Given the description of an element on the screen output the (x, y) to click on. 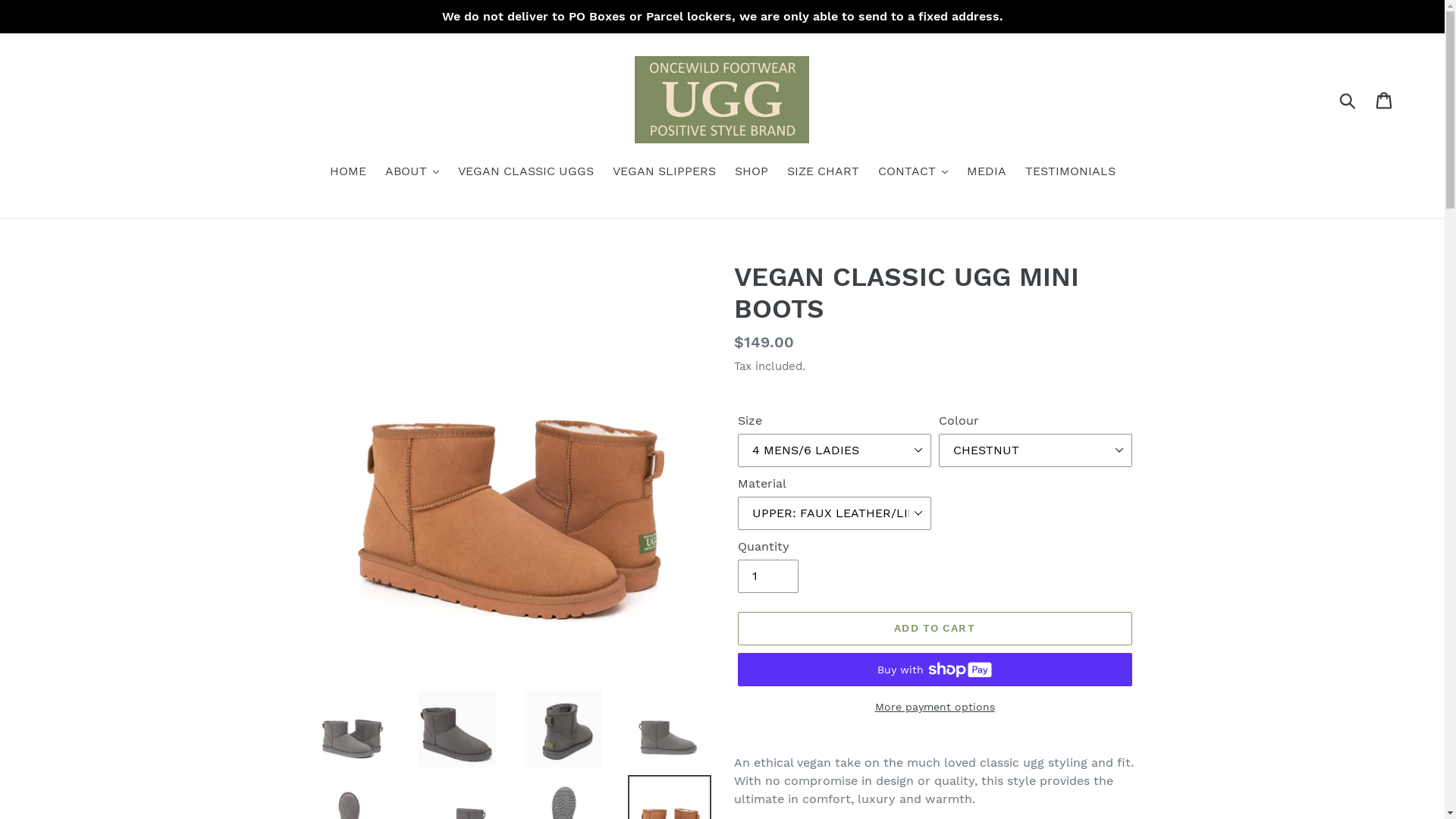
Cart Element type: text (1384, 99)
VEGAN CLASSIC UGGS Element type: text (525, 172)
SHOP Element type: text (750, 172)
HOME Element type: text (347, 172)
MEDIA Element type: text (985, 172)
SIZE CHART Element type: text (822, 172)
VEGAN SLIPPERS Element type: text (664, 172)
TESTIMONIALS Element type: text (1070, 172)
Submit Element type: text (1348, 99)
ADD TO CART Element type: text (934, 628)
More payment options Element type: text (934, 706)
